Given the description of an element on the screen output the (x, y) to click on. 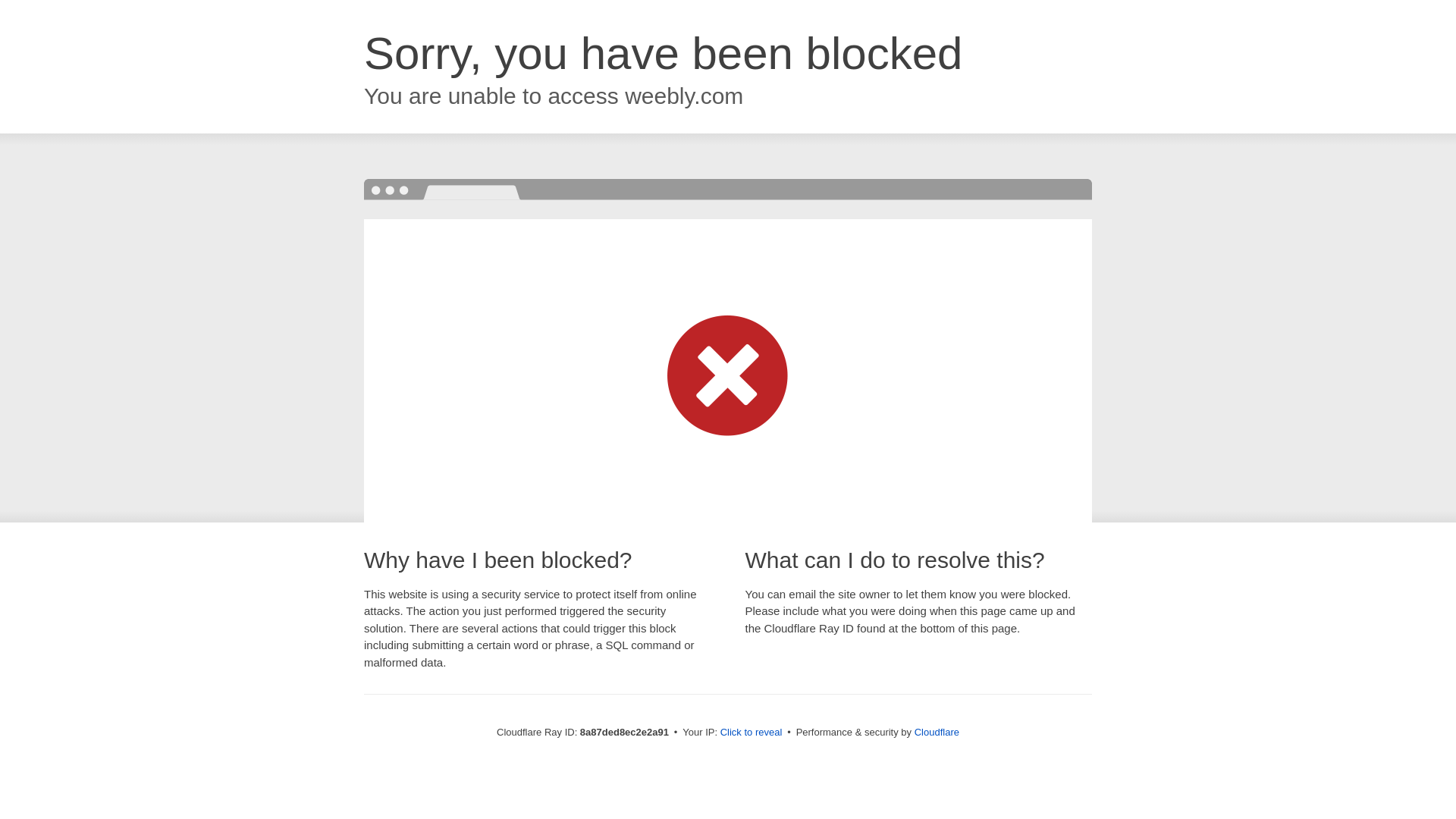
Click to reveal (751, 732)
Cloudflare (936, 731)
